Given the description of an element on the screen output the (x, y) to click on. 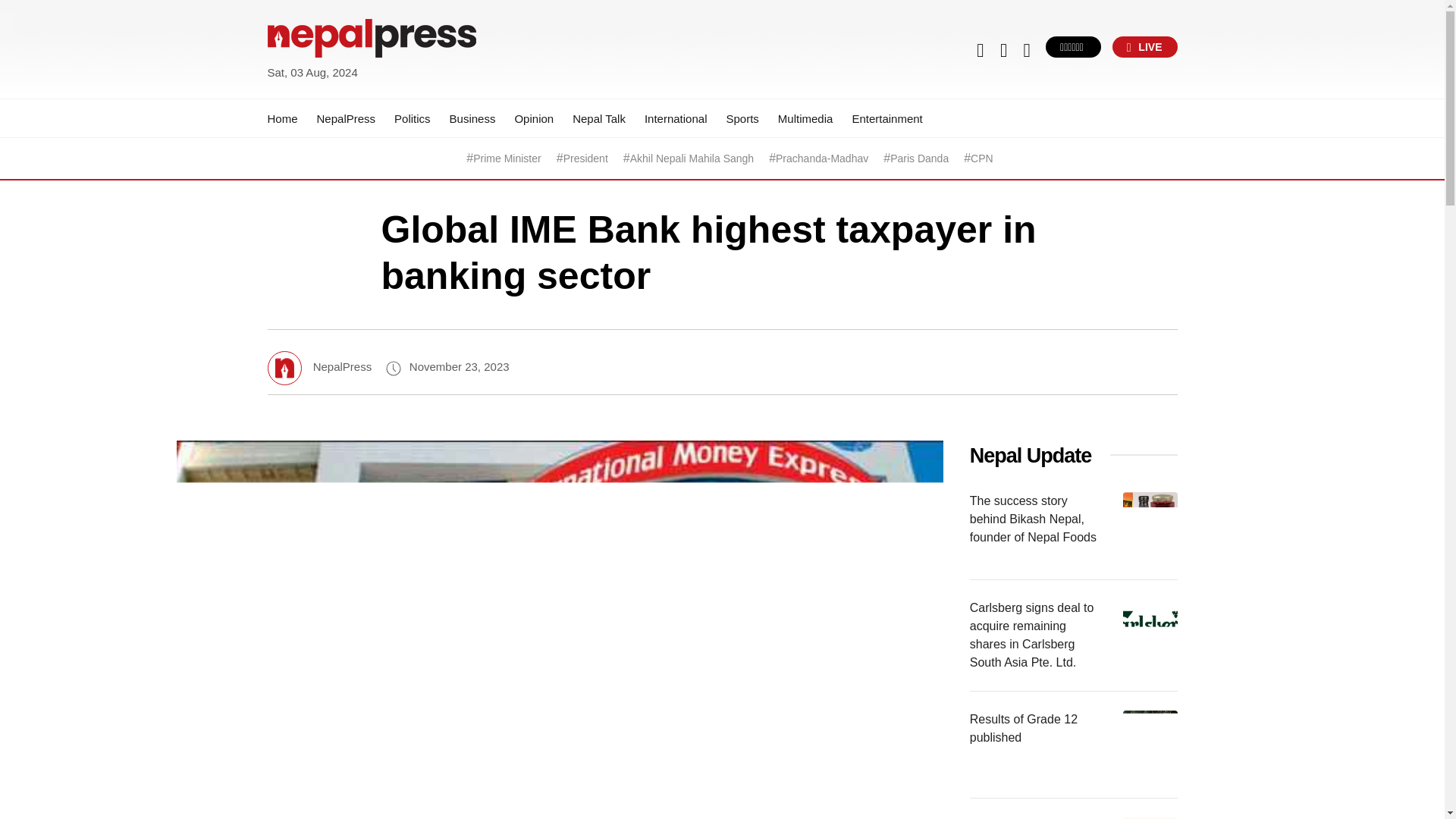
President (585, 158)
Akhil Nepali Mahila Sangh (692, 158)
Business (472, 118)
Entertainment (886, 118)
Opinion (533, 118)
International (676, 118)
Paris Danda (919, 158)
Prime Minister (506, 158)
Nepal Press (303, 91)
Akhil Nepali Mahila Sangh (692, 158)
